Given the description of an element on the screen output the (x, y) to click on. 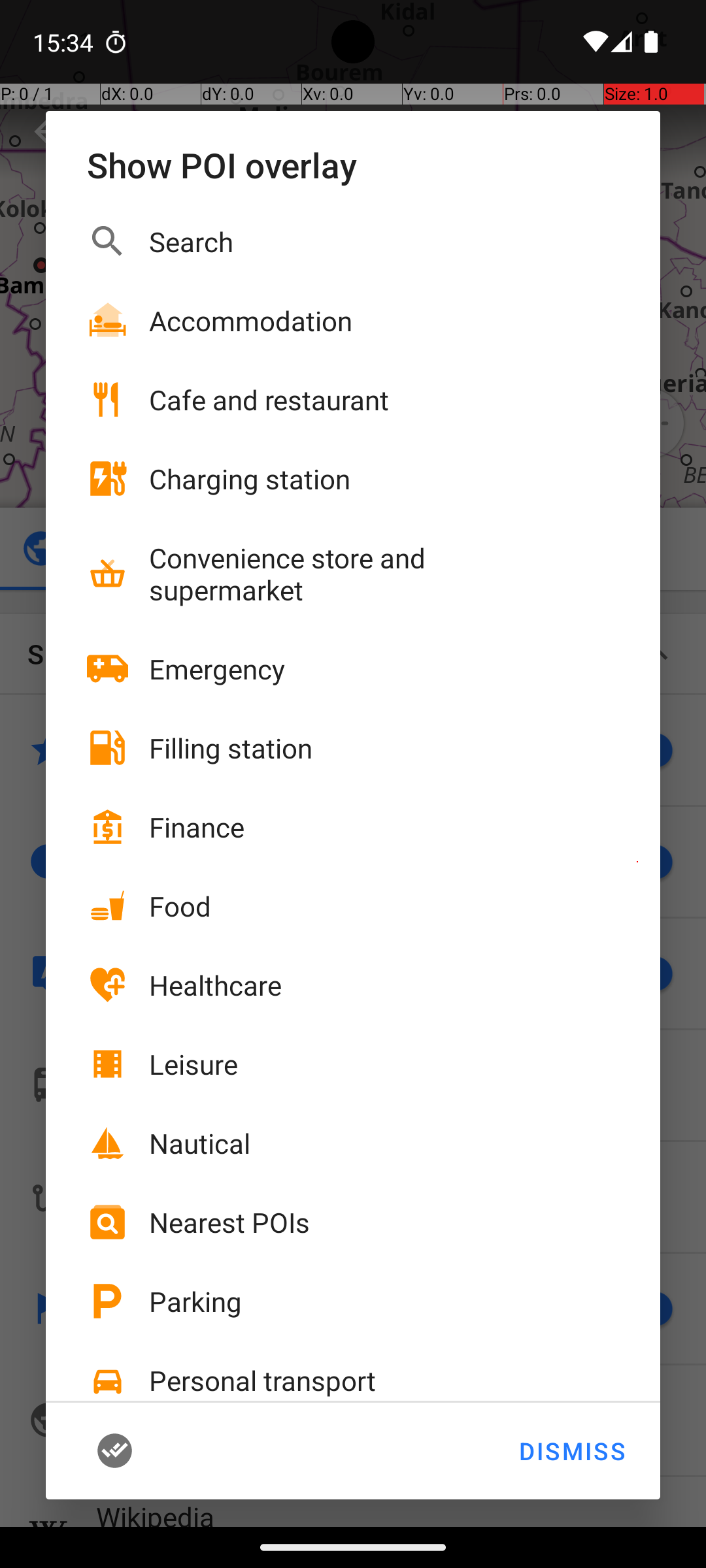
Show POI overlay Element type: android.widget.TextView (352, 164)
  Element type: android.widget.Button (135, 1450)
DISMISS Element type: android.widget.Button (571, 1450)
Accommodation Element type: android.widget.TextView (250, 320)
Cafe and restaurant Element type: android.widget.TextView (269, 399)
Charging station Element type: android.widget.TextView (249, 478)
Convenience store and supermarket Element type: android.widget.TextView (359, 573)
Emergency Element type: android.widget.TextView (217, 668)
Filling station Element type: android.widget.TextView (230, 747)
Healthcare Element type: android.widget.TextView (215, 984)
Leisure Element type: android.widget.TextView (193, 1063)
Nautical Element type: android.widget.TextView (199, 1142)
Nearest POIs Element type: android.widget.TextView (229, 1221)
Parking Element type: android.widget.TextView (195, 1300)
Personal transport Element type: android.widget.TextView (262, 1379)
